Given the description of an element on the screen output the (x, y) to click on. 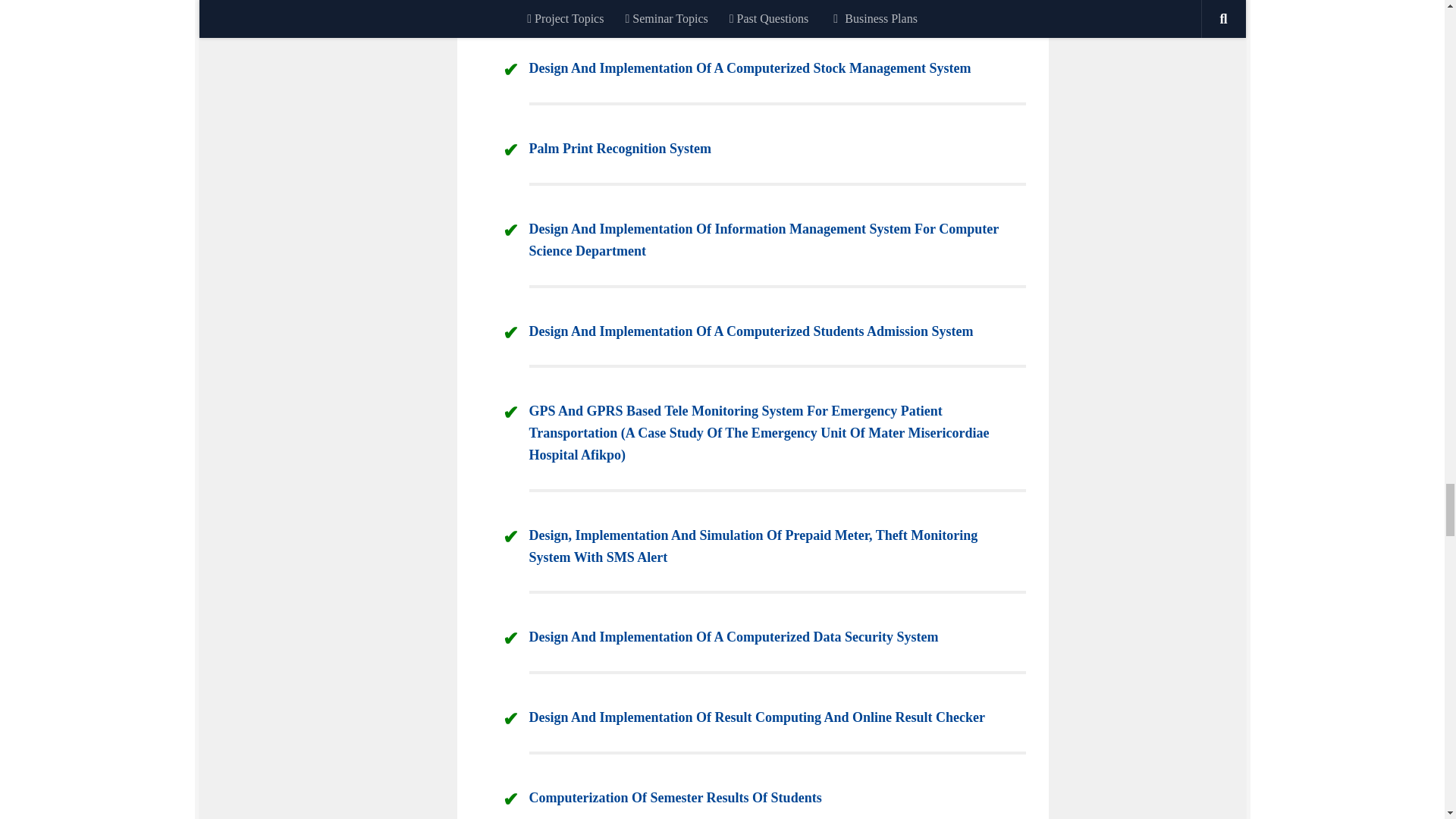
Palm Print Recognition System (620, 148)
